Given the description of an element on the screen output the (x, y) to click on. 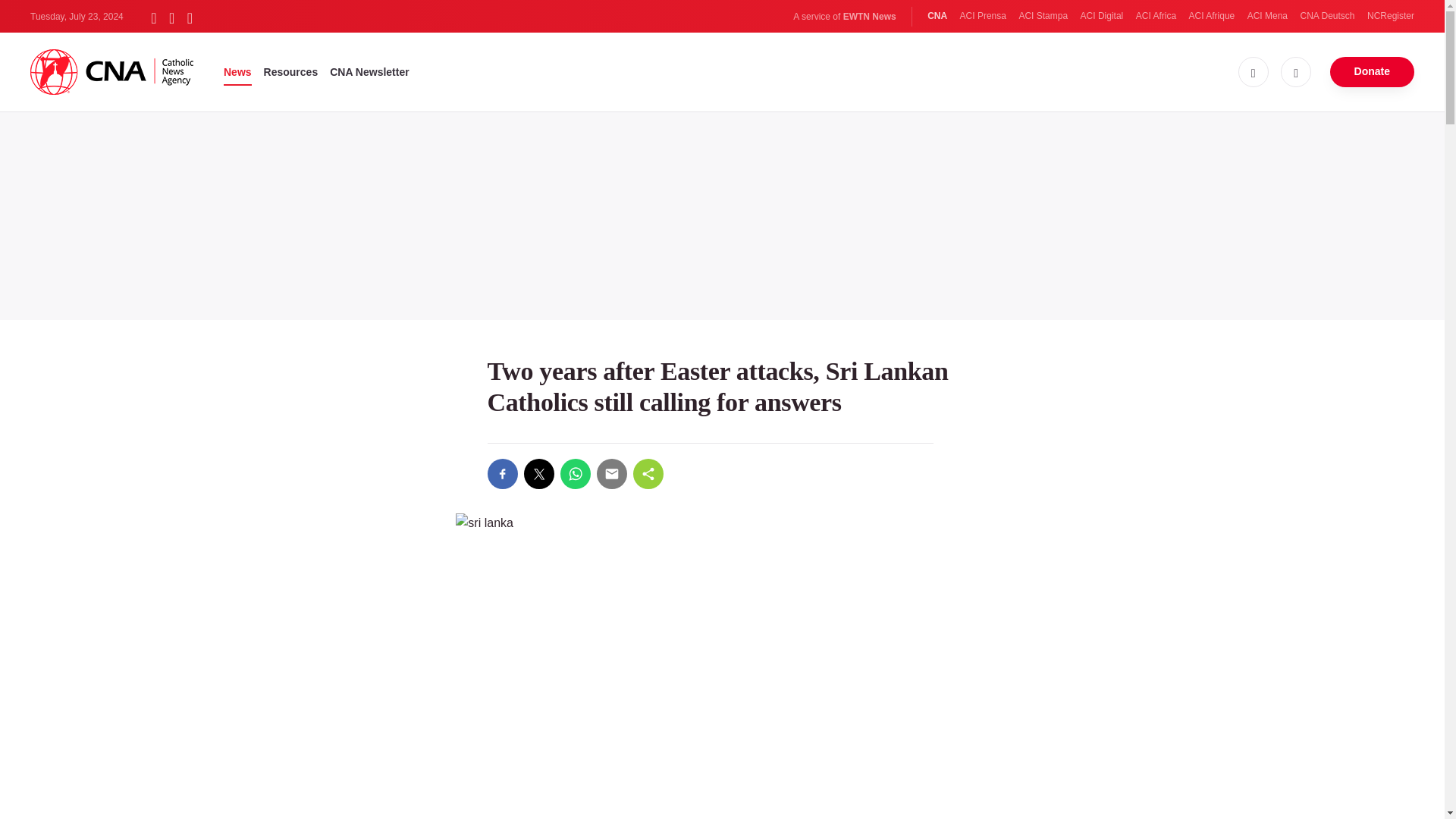
EWTN News (869, 16)
Resources (290, 71)
ACI Afrique (1211, 16)
CNA (937, 16)
ACI Stampa (1042, 16)
ACI Prensa (982, 16)
NCRegister (1390, 16)
News (237, 71)
ACI Africa (1155, 16)
CNA Deutsch (1327, 16)
EWTN News (869, 16)
ACI Digital (1102, 16)
ACI Mena (1267, 16)
